Given the description of an element on the screen output the (x, y) to click on. 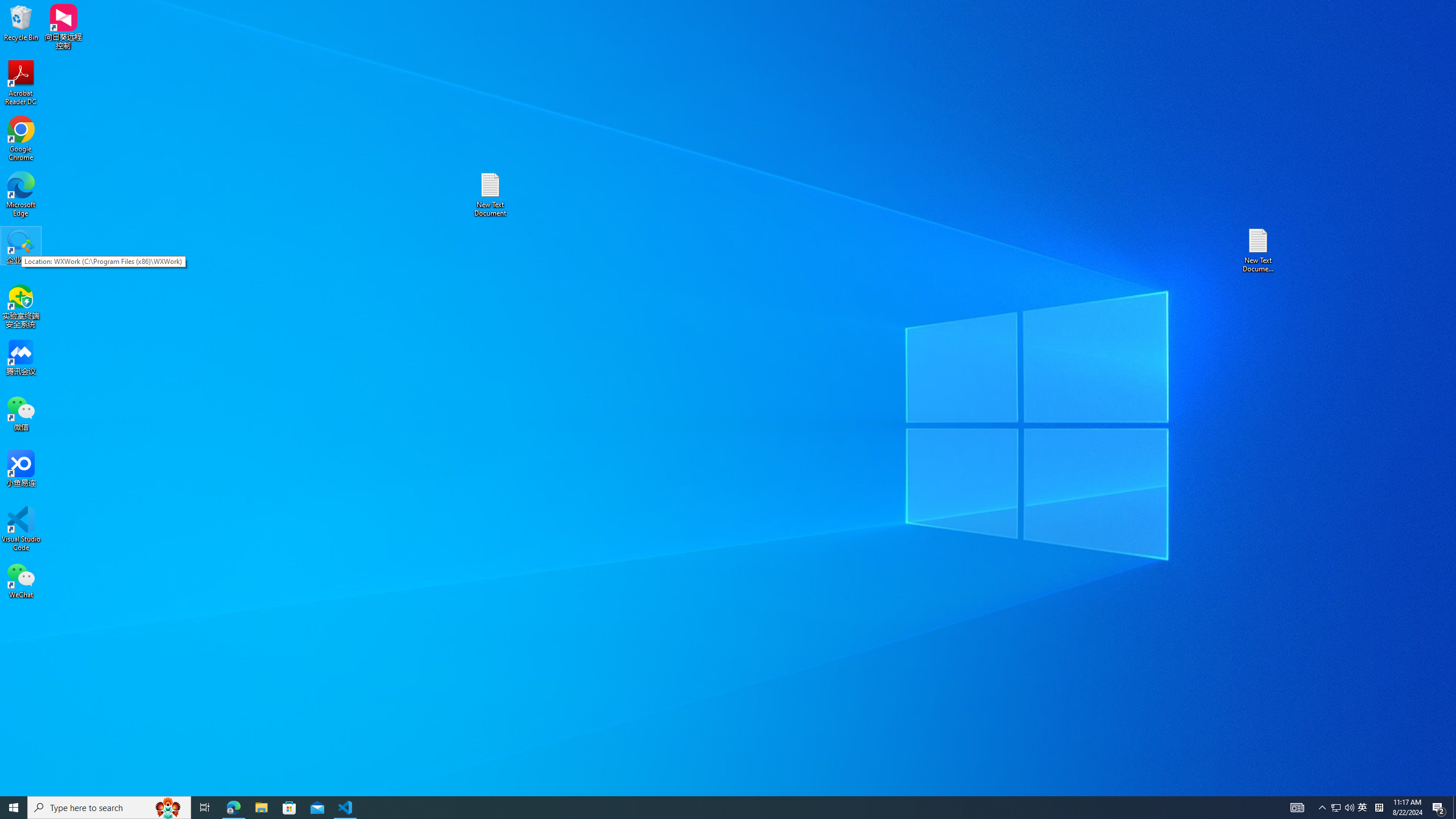
Action Center, 2 new notifications (1362, 807)
File Explorer (1439, 807)
Microsoft Edge (261, 807)
Running applications (21, 194)
Start (707, 807)
Microsoft Store (13, 807)
Notification Chevron (289, 807)
